Given the description of an element on the screen output the (x, y) to click on. 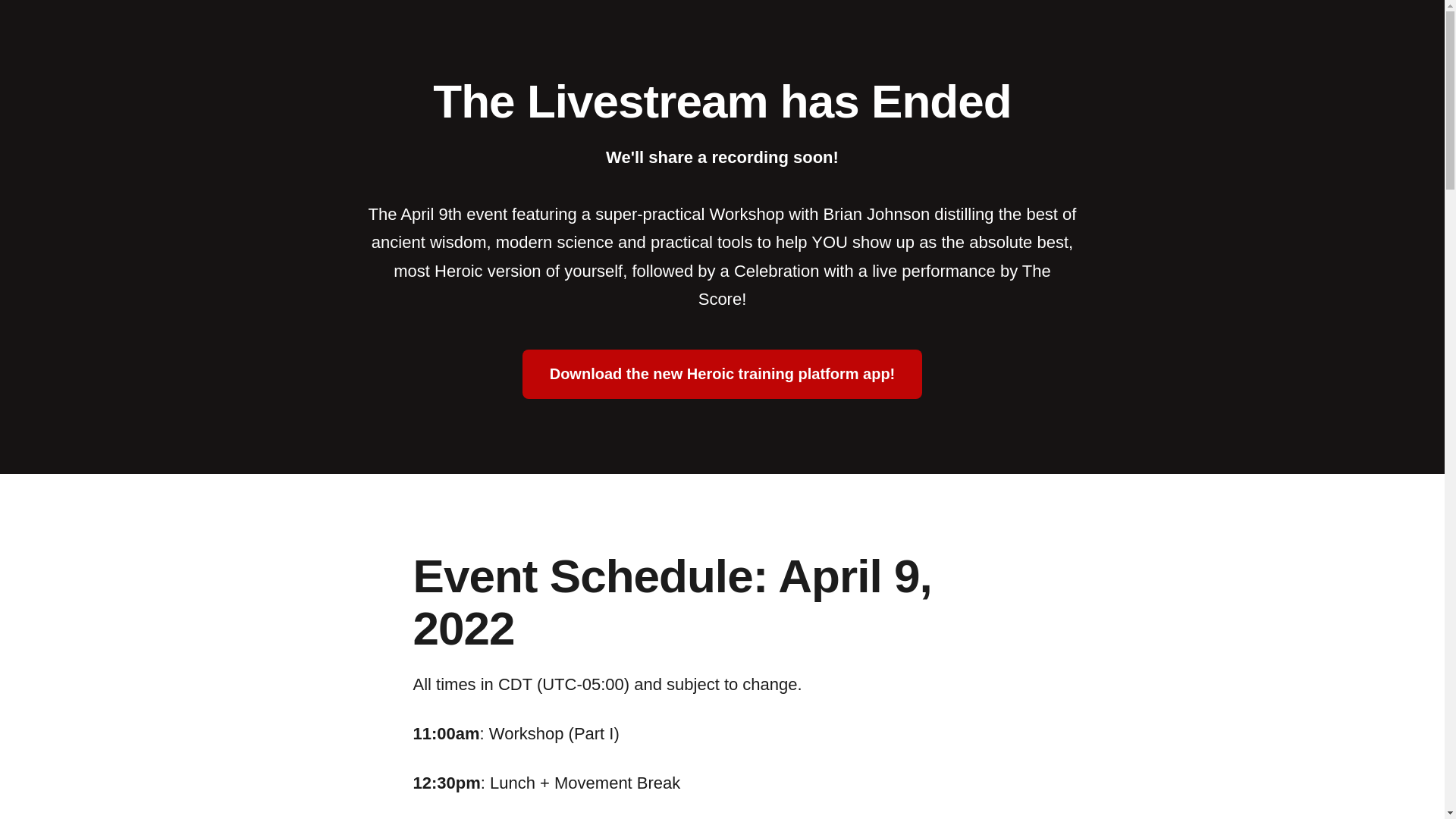
Download the new Heroic training platform app! (722, 373)
